Given the description of an element on the screen output the (x, y) to click on. 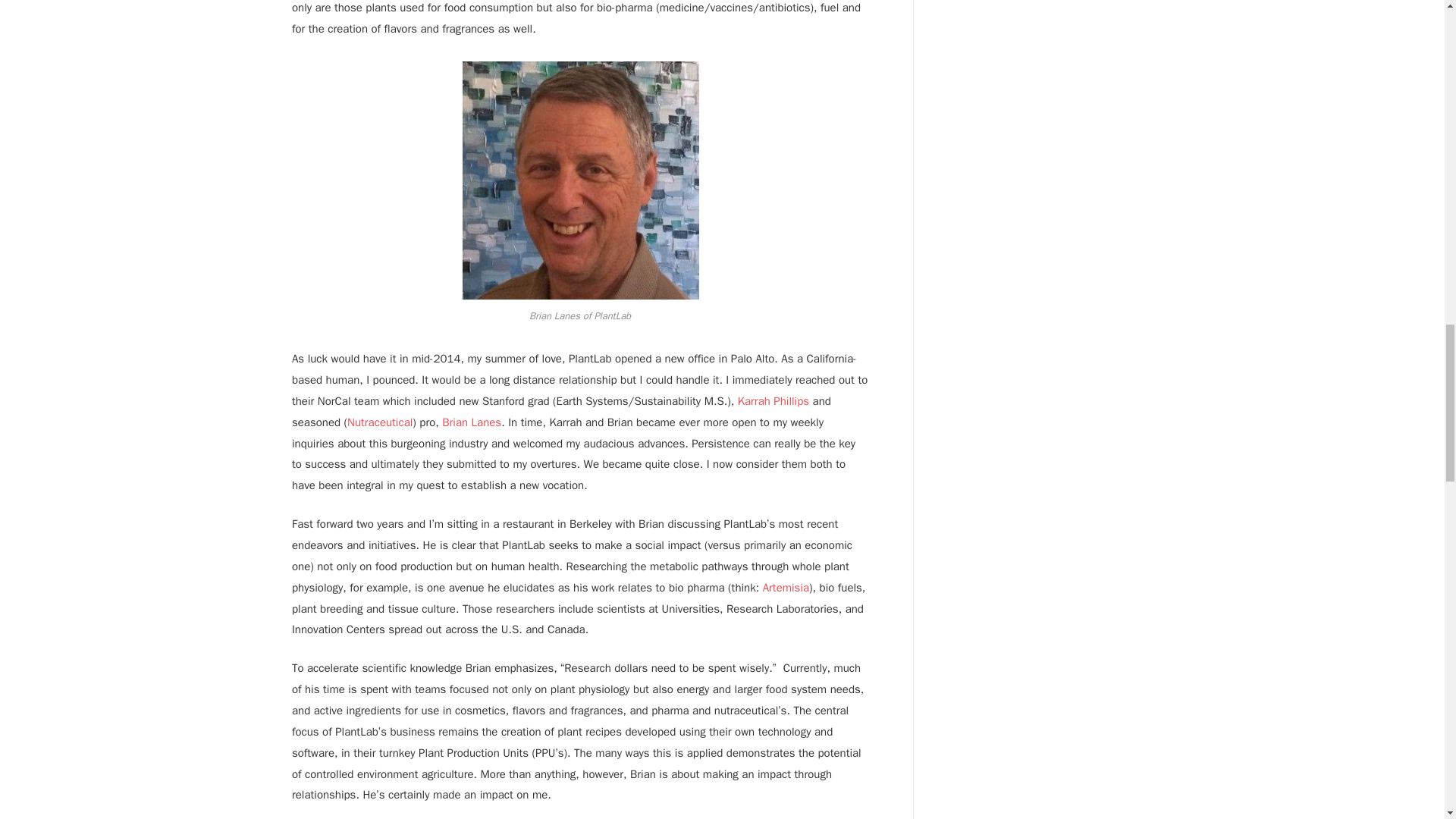
Karrah Phillips (773, 400)
